Given the description of an element on the screen output the (x, y) to click on. 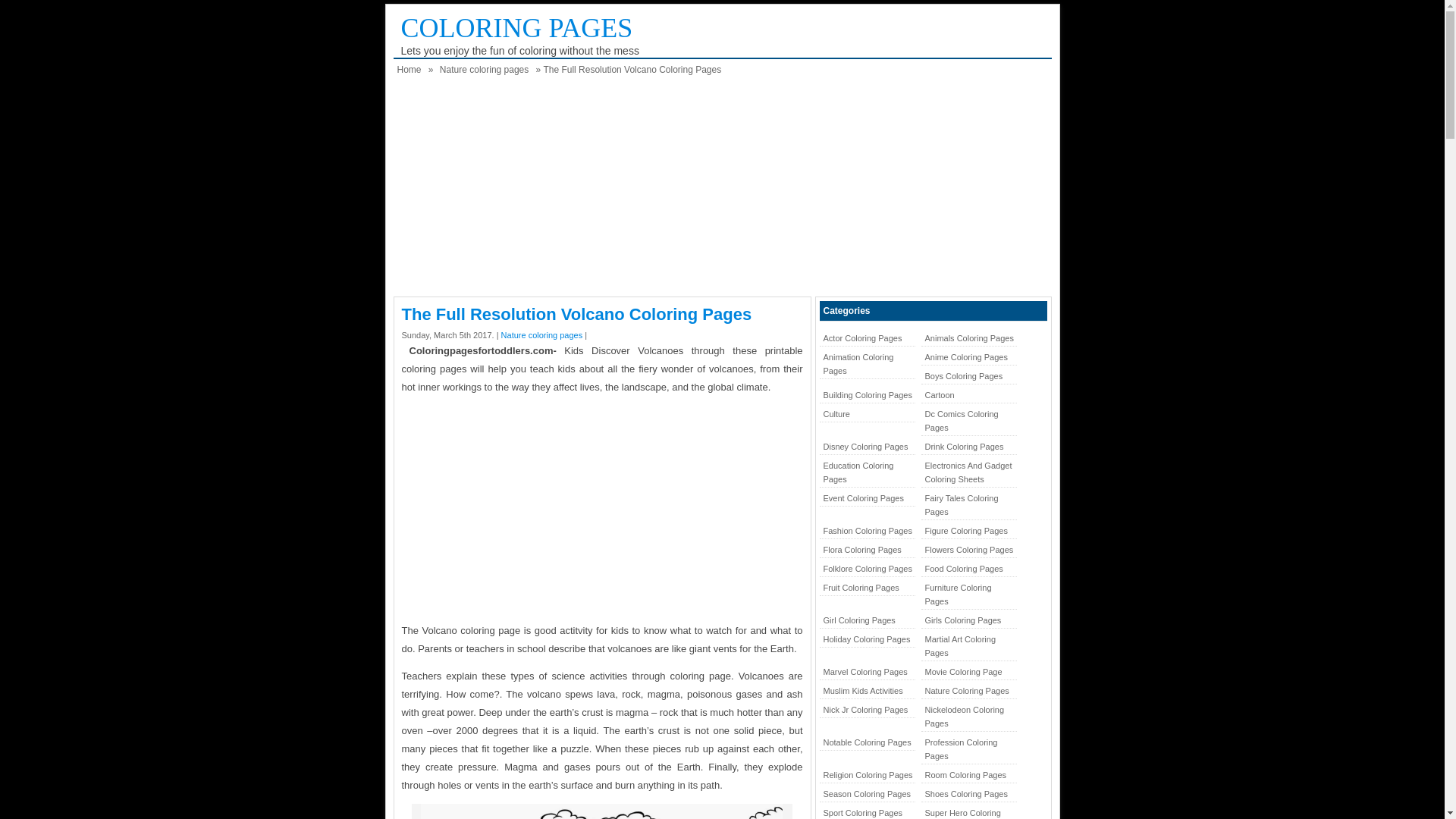
Advertisement (601, 511)
Home (409, 69)
Fashion Coloring Pages (866, 530)
Boys Coloring Pages (968, 376)
Fairy Tales Coloring Pages (968, 505)
Electronics And Gadget Coloring Sheets (968, 472)
Nature coloring pages (483, 69)
Education Coloring Pages (866, 472)
Cartoon (968, 395)
Dc Comics Coloring Pages (968, 420)
Animals Coloring Pages (968, 338)
Culture (866, 414)
Event Coloring Pages (866, 498)
Coloring Pages (515, 28)
